Given the description of an element on the screen output the (x, y) to click on. 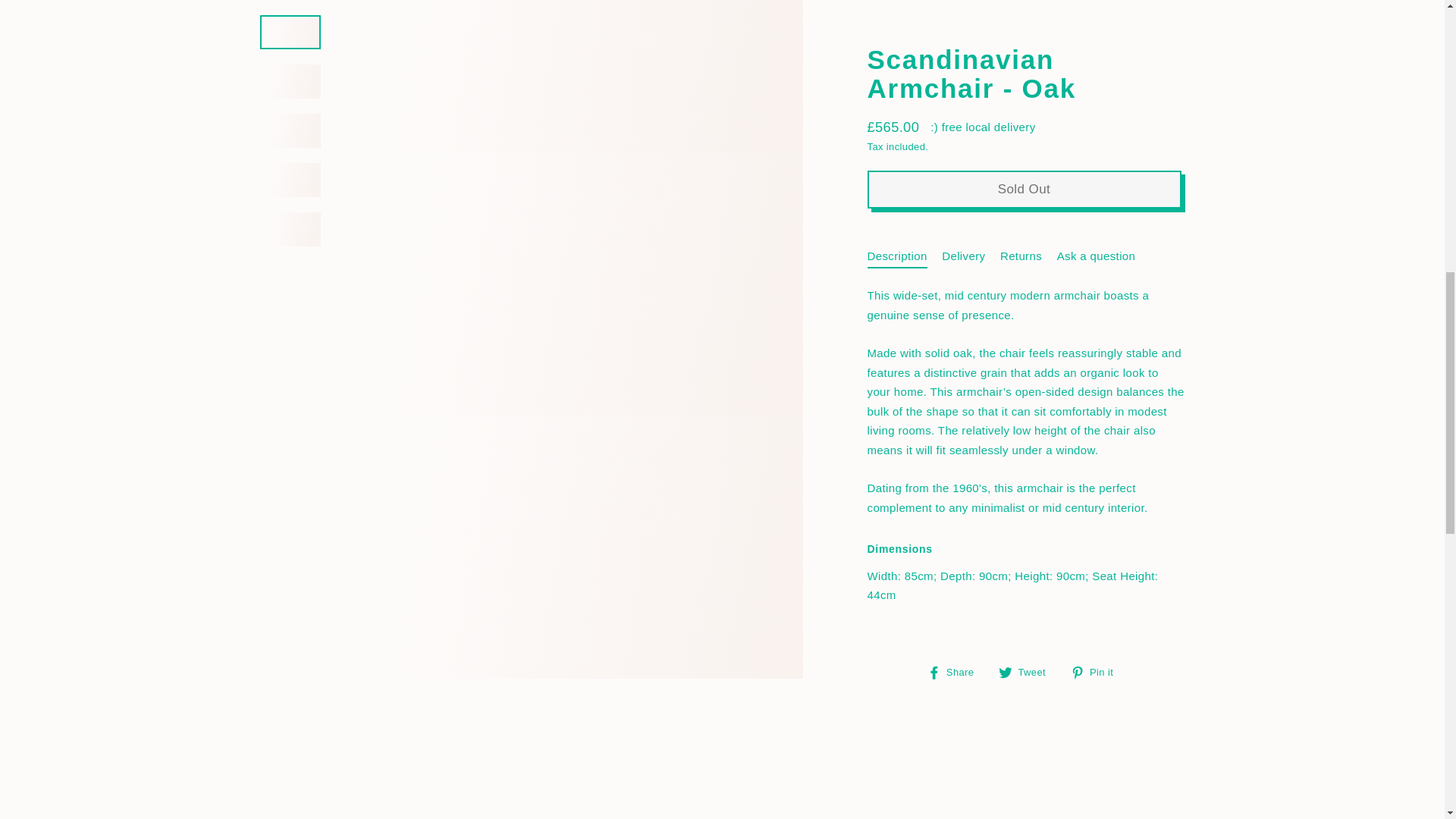
Pin on Pinterest (1097, 37)
Tweet on Twitter (1027, 37)
Share on Facebook (956, 37)
